Given the description of an element on the screen output the (x, y) to click on. 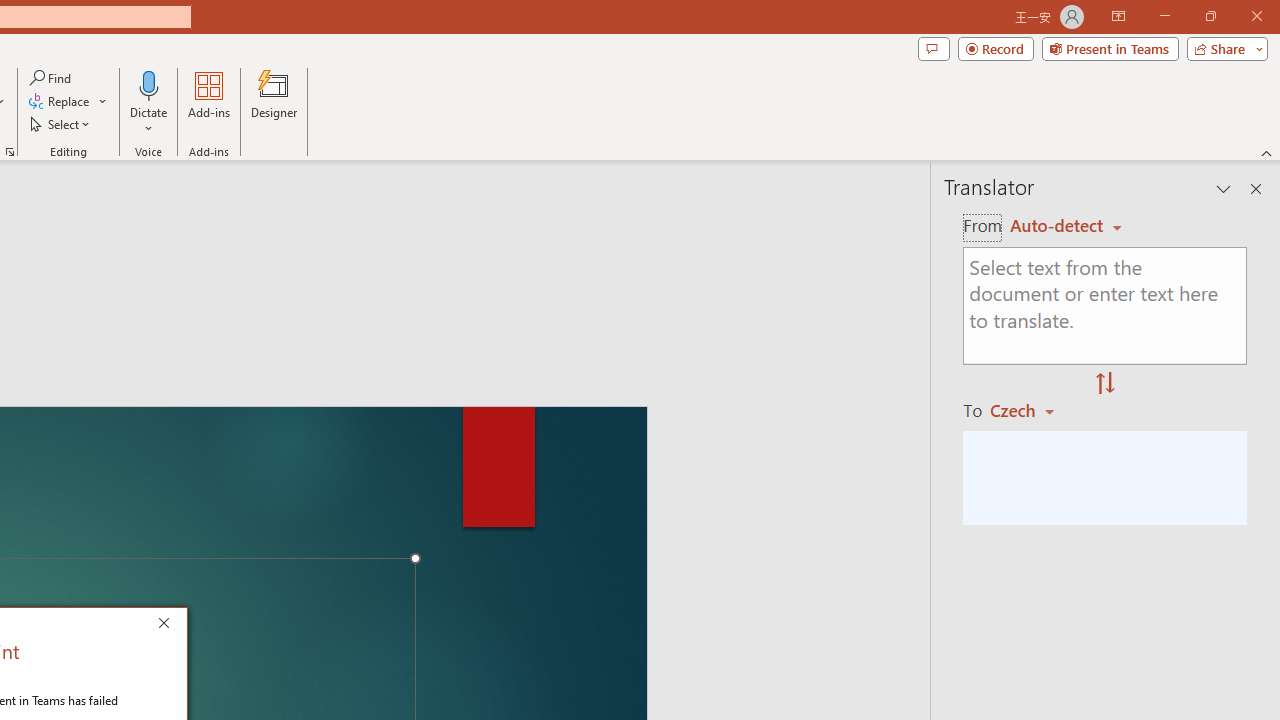
Auto-detect (1066, 225)
Czech (1030, 409)
